Given the description of an element on the screen output the (x, y) to click on. 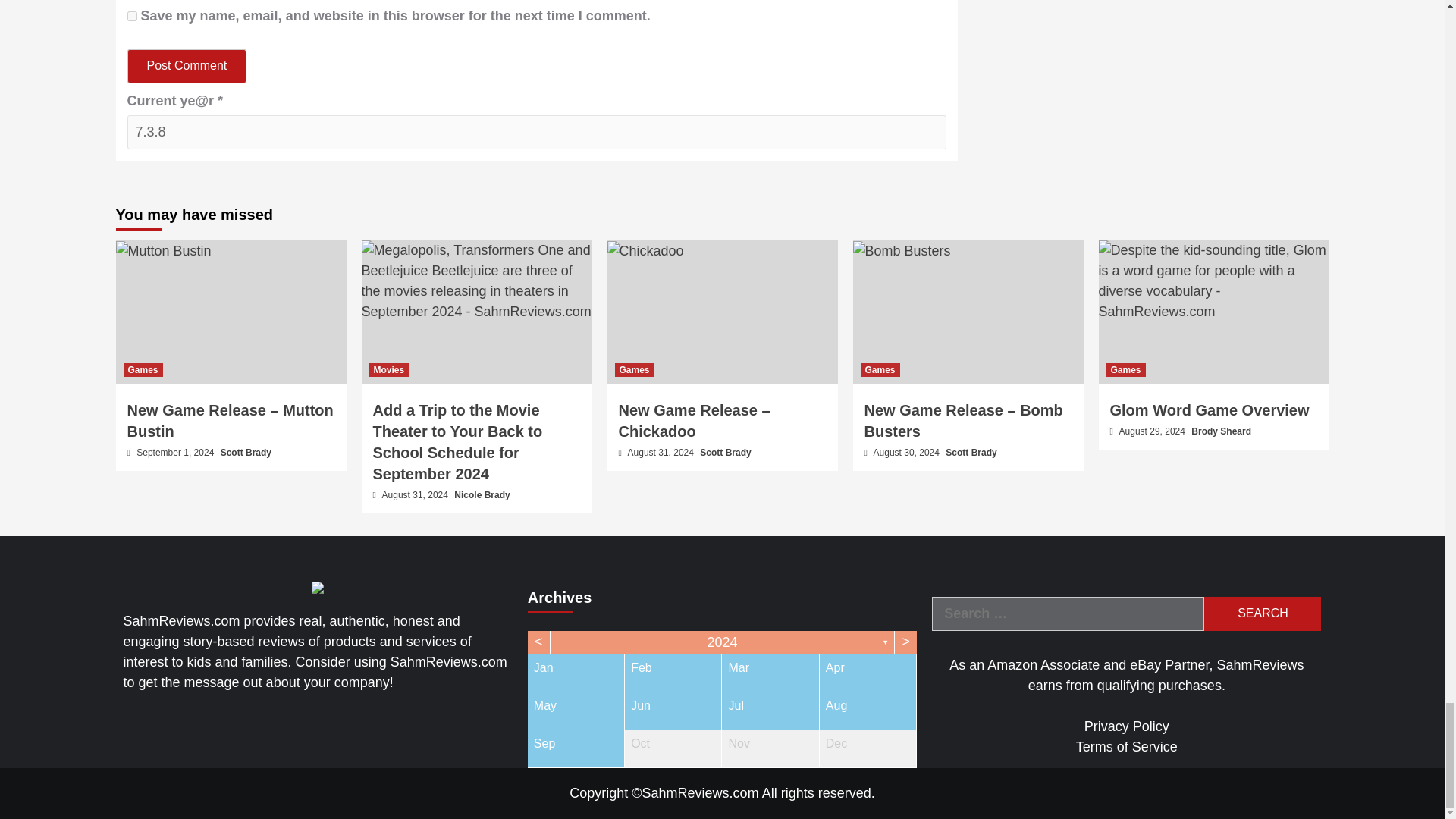
February, 2024 (672, 672)
Search (1262, 613)
Search (1262, 613)
7.3.8 (537, 132)
March, 2024 (770, 672)
Post Comment (187, 66)
January, 2024 (575, 672)
yes (132, 16)
